Given the description of an element on the screen output the (x, y) to click on. 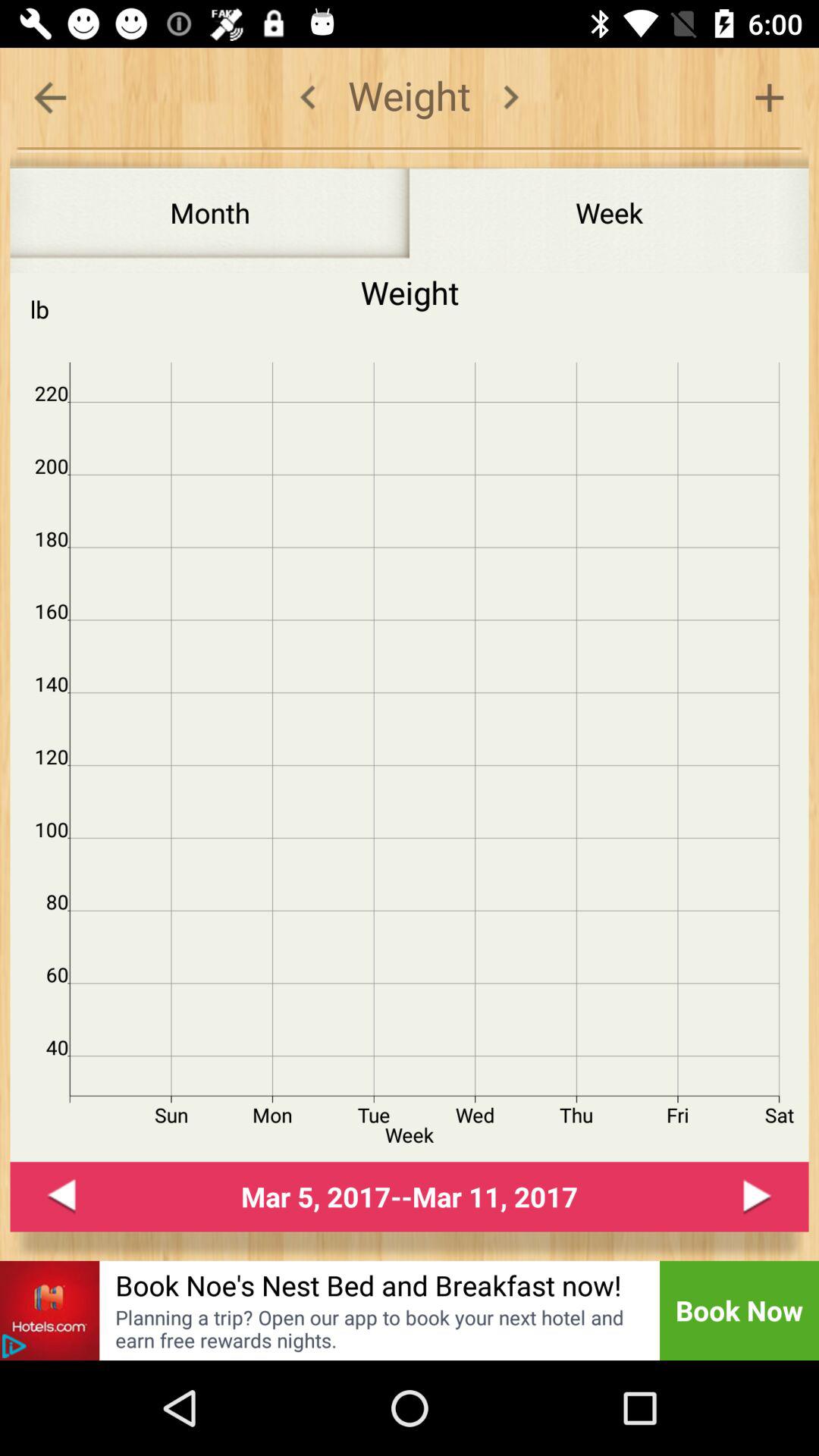
period tracker period calendar ovulation tracker (510, 97)
